Given the description of an element on the screen output the (x, y) to click on. 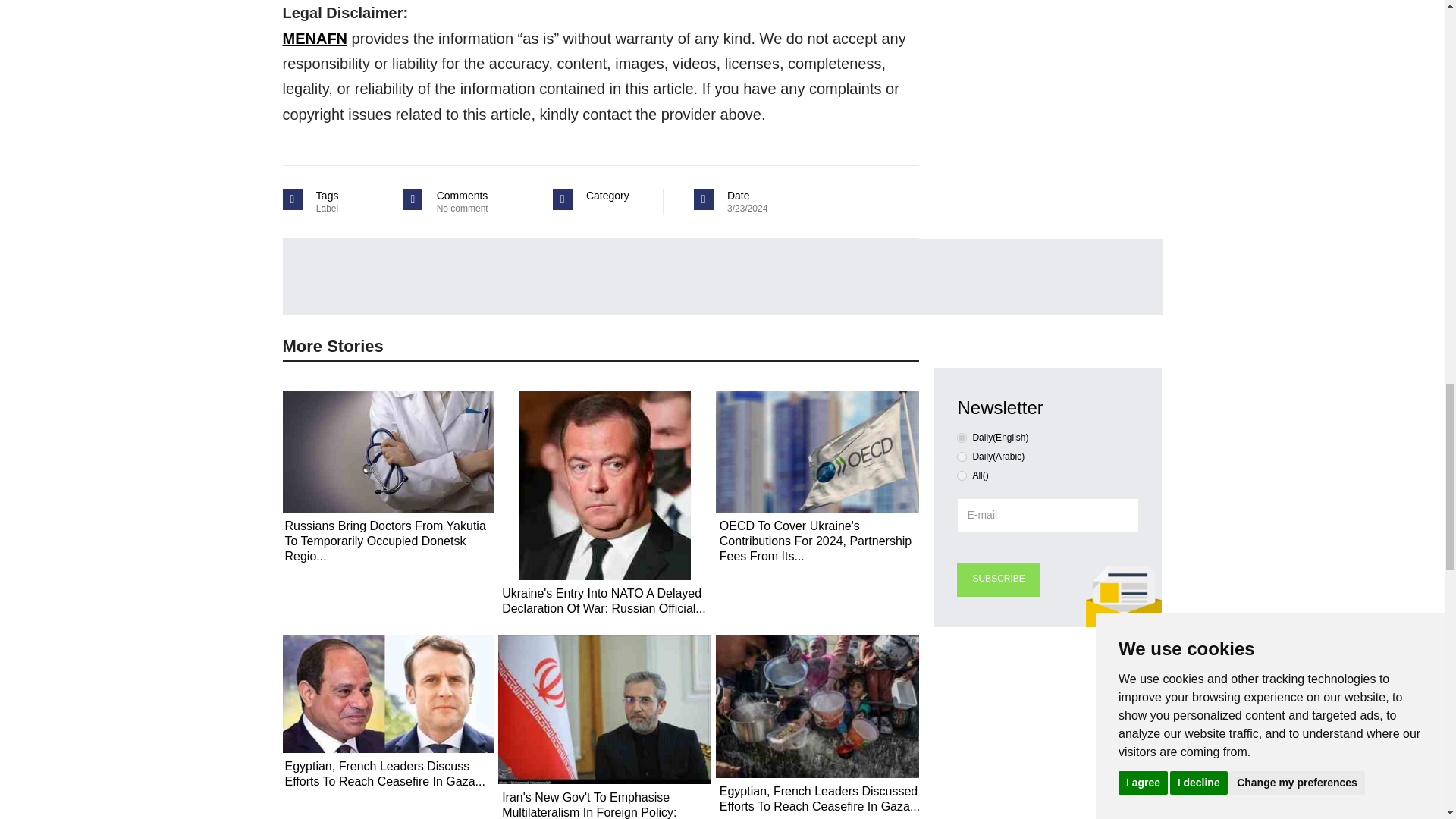
1 (961, 456)
2 (961, 475)
0 (961, 438)
Subscribe (997, 579)
Advertisement (1047, 734)
